Given the description of an element on the screen output the (x, y) to click on. 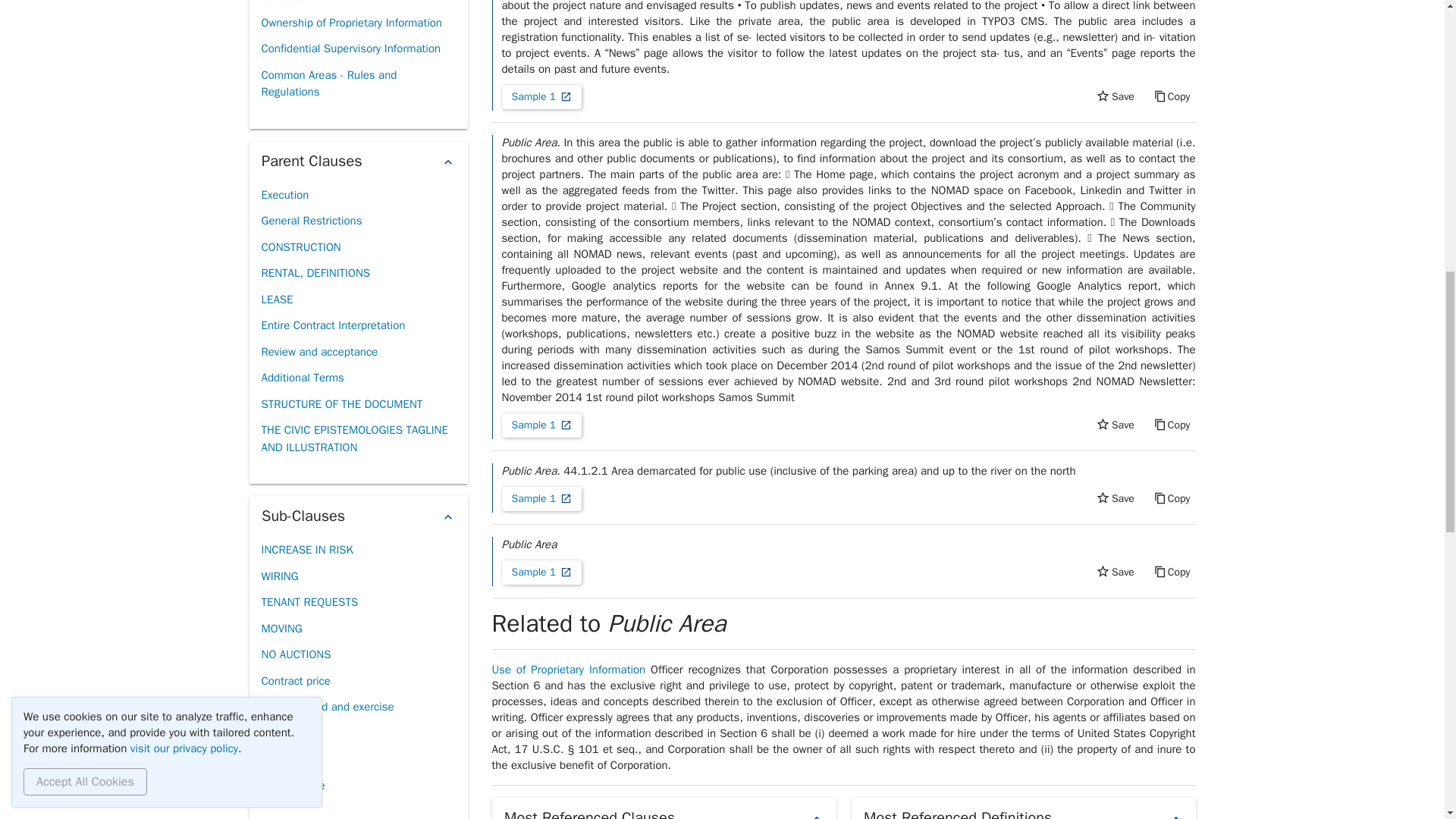
Entire Contract Interpretation (332, 325)
Execution (284, 194)
Confidential Supervisory Information (350, 49)
General Restrictions (310, 221)
Review and acceptance (318, 352)
Confidential Information and Non-Solicitation (357, 4)
Common Areas - Rules and Regulations (357, 83)
CONSTRUCTION (300, 247)
Ownership of Proprietary Information (350, 22)
LEASE (276, 299)
RENTAL, DEFINITIONS (314, 273)
